Given the description of an element on the screen output the (x, y) to click on. 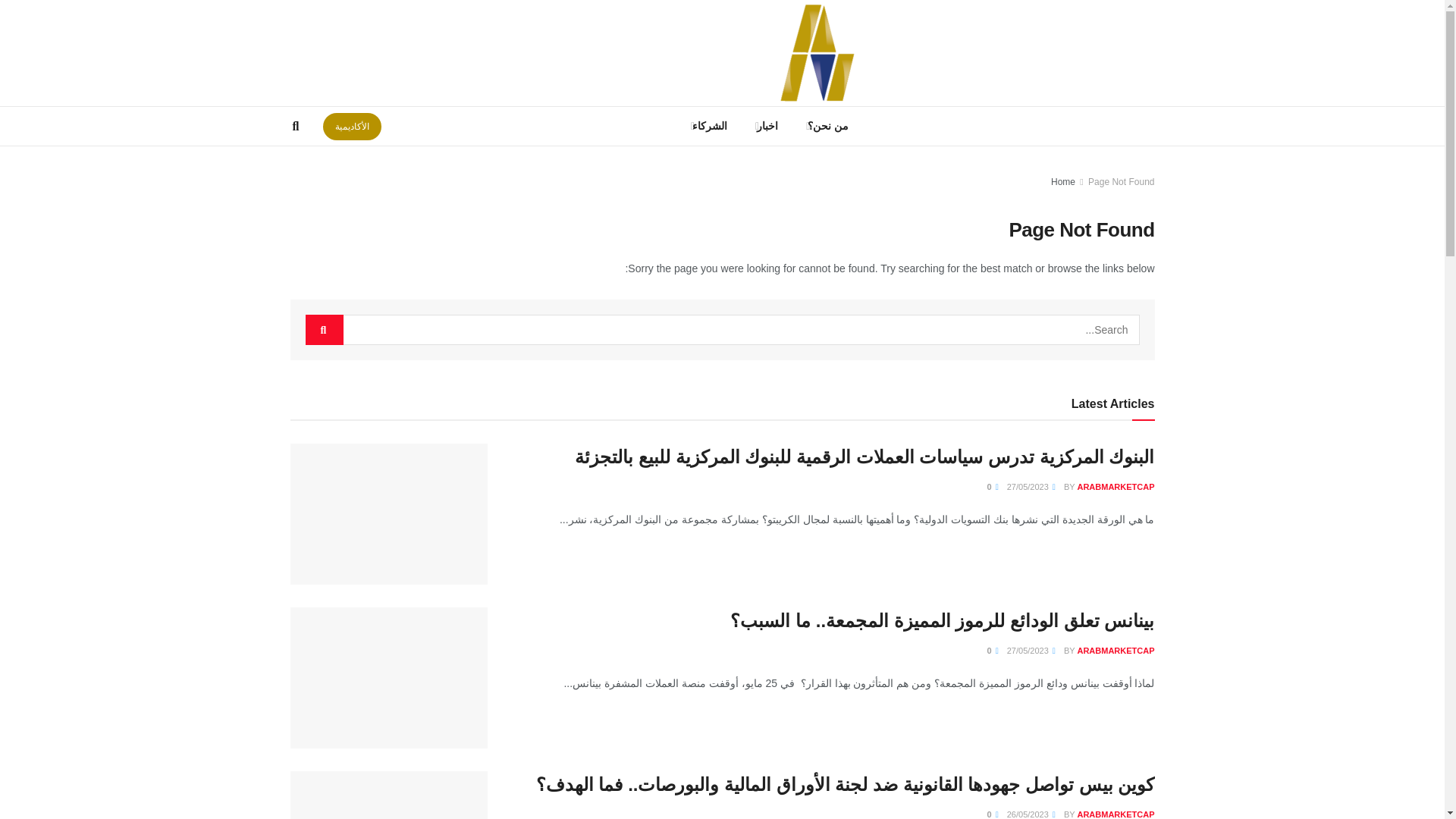
Register (314, 53)
Home (1063, 181)
ARABMARKETCAP (1115, 486)
Page Not Found (1120, 181)
Login (359, 53)
